Given the description of an element on the screen output the (x, y) to click on. 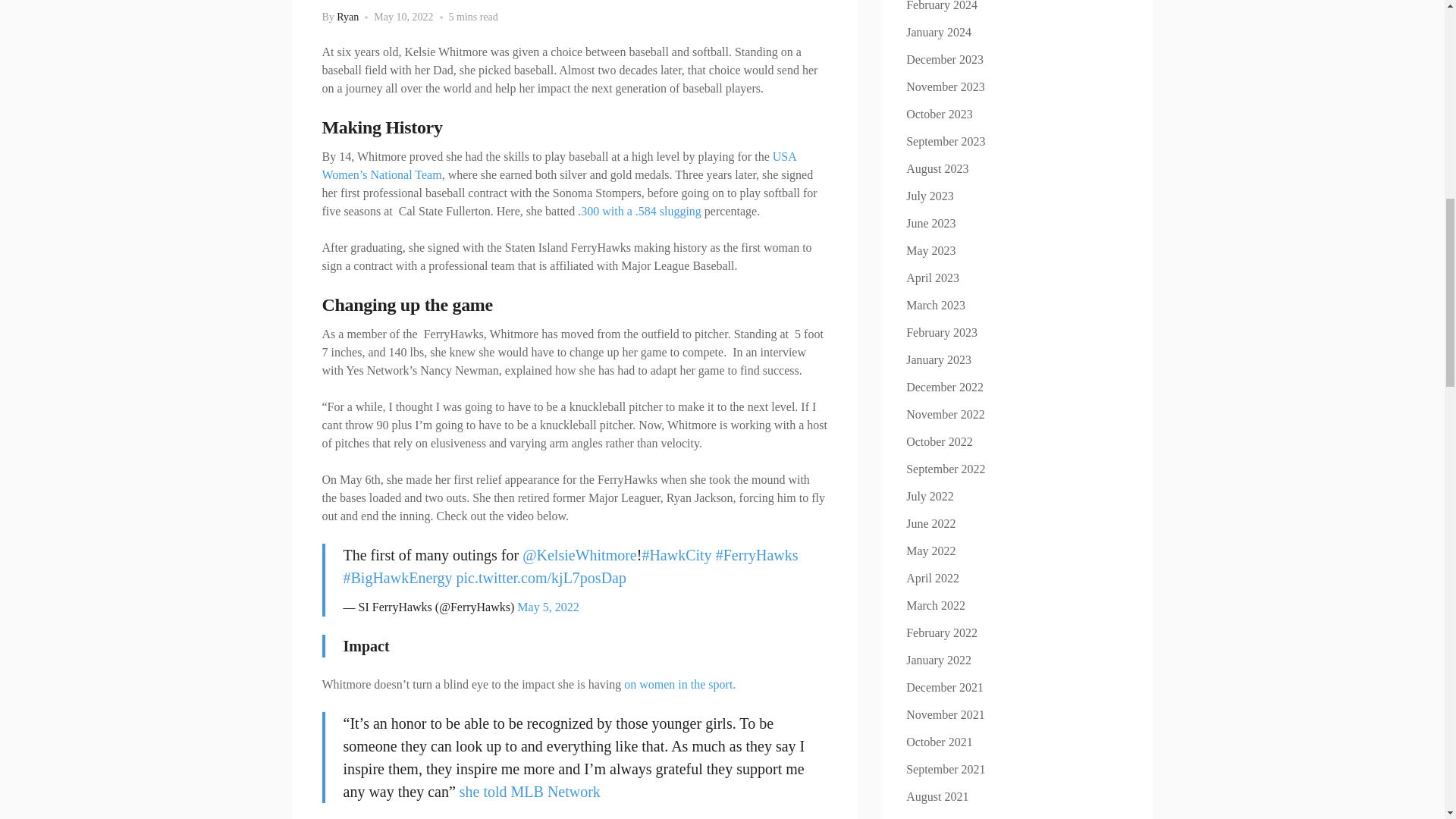
she told MLB Network (532, 791)
300 with a .584 slugging (642, 210)
Ryan (347, 16)
May 5, 2022 (547, 606)
on women in the sport. (679, 684)
